Given the description of an element on the screen output the (x, y) to click on. 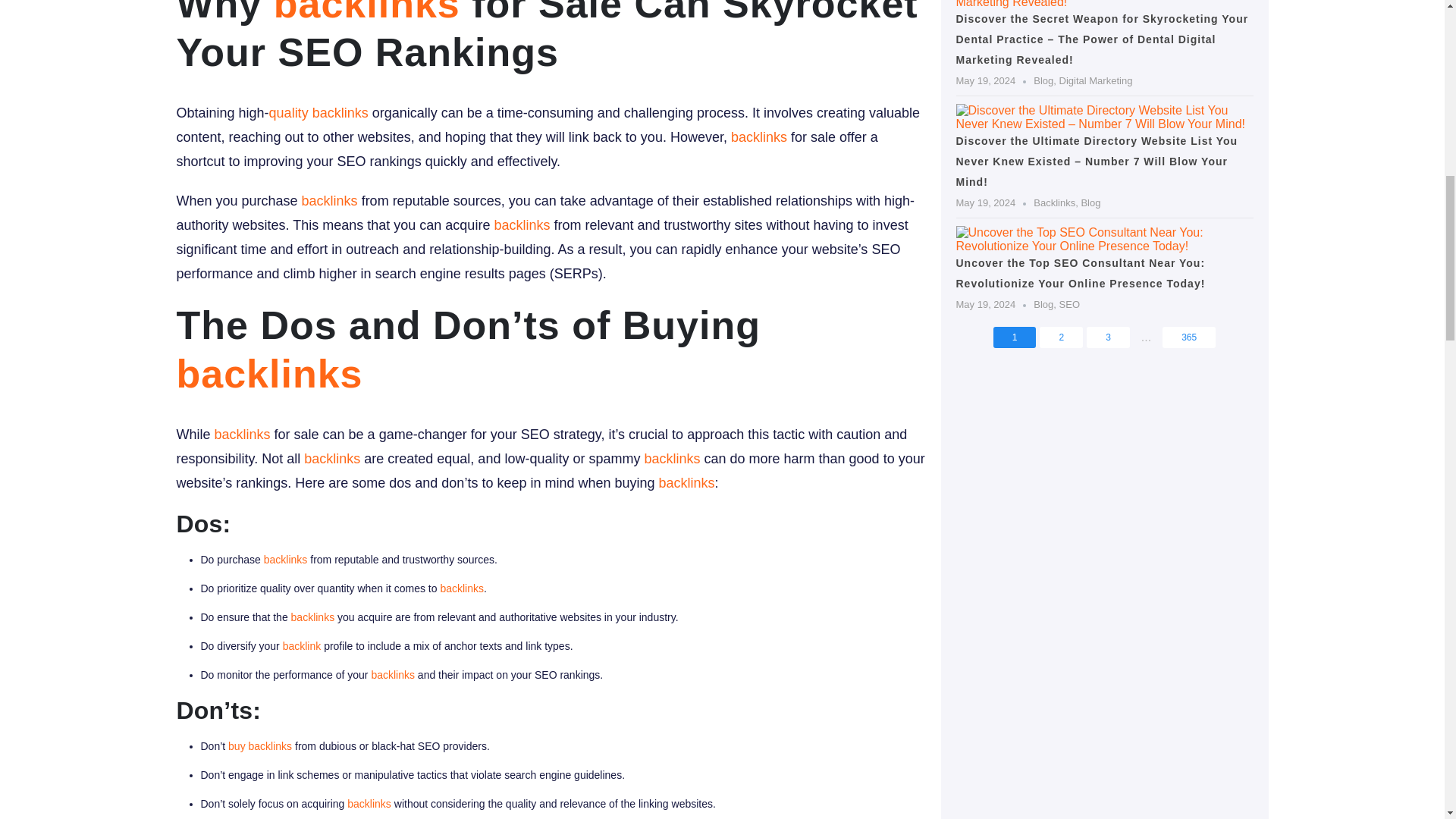
backlinks (758, 136)
backlinks (329, 200)
backlinks (331, 458)
backlinks (366, 12)
backlinks (671, 458)
quality backlinks (318, 112)
backlinks (686, 482)
backlinks (285, 559)
backlinks (521, 224)
backlinks (242, 434)
backlinks (269, 373)
